Given the description of an element on the screen output the (x, y) to click on. 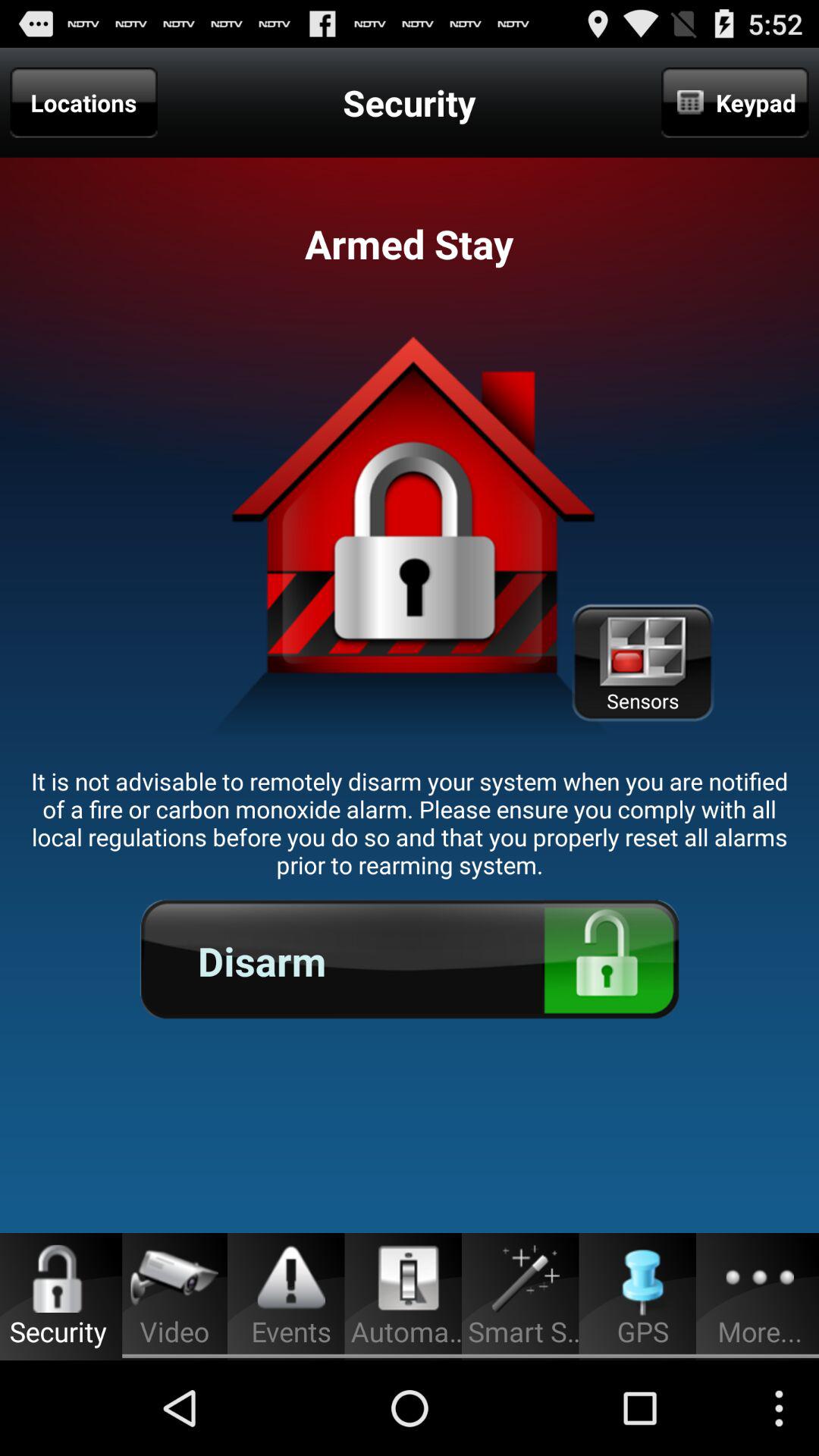
select the icon below keypad icon (642, 662)
